Given the description of an element on the screen output the (x, y) to click on. 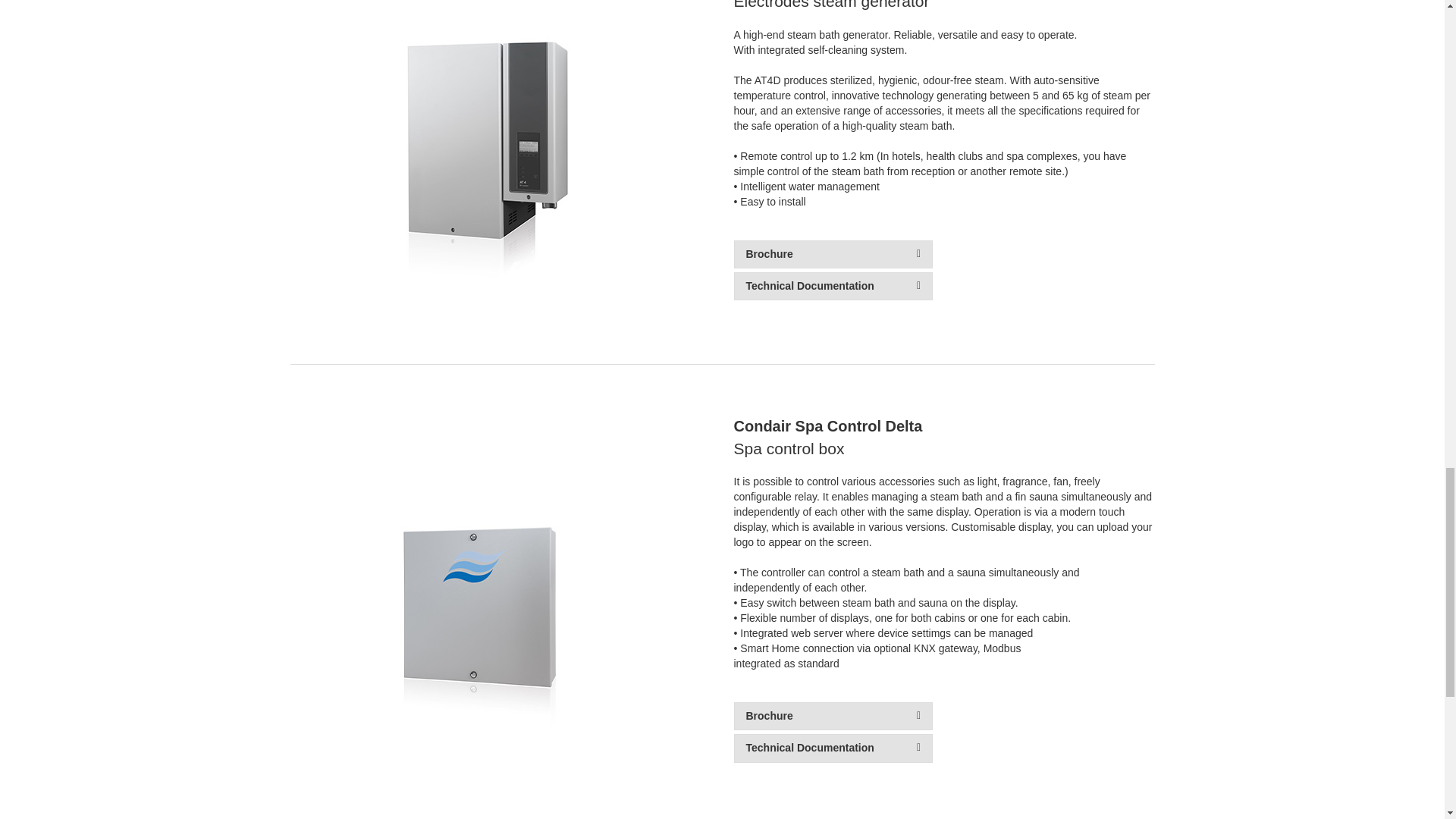
Condair DL - Adiabate Befeuchtung (472, 171)
